Given the description of an element on the screen output the (x, y) to click on. 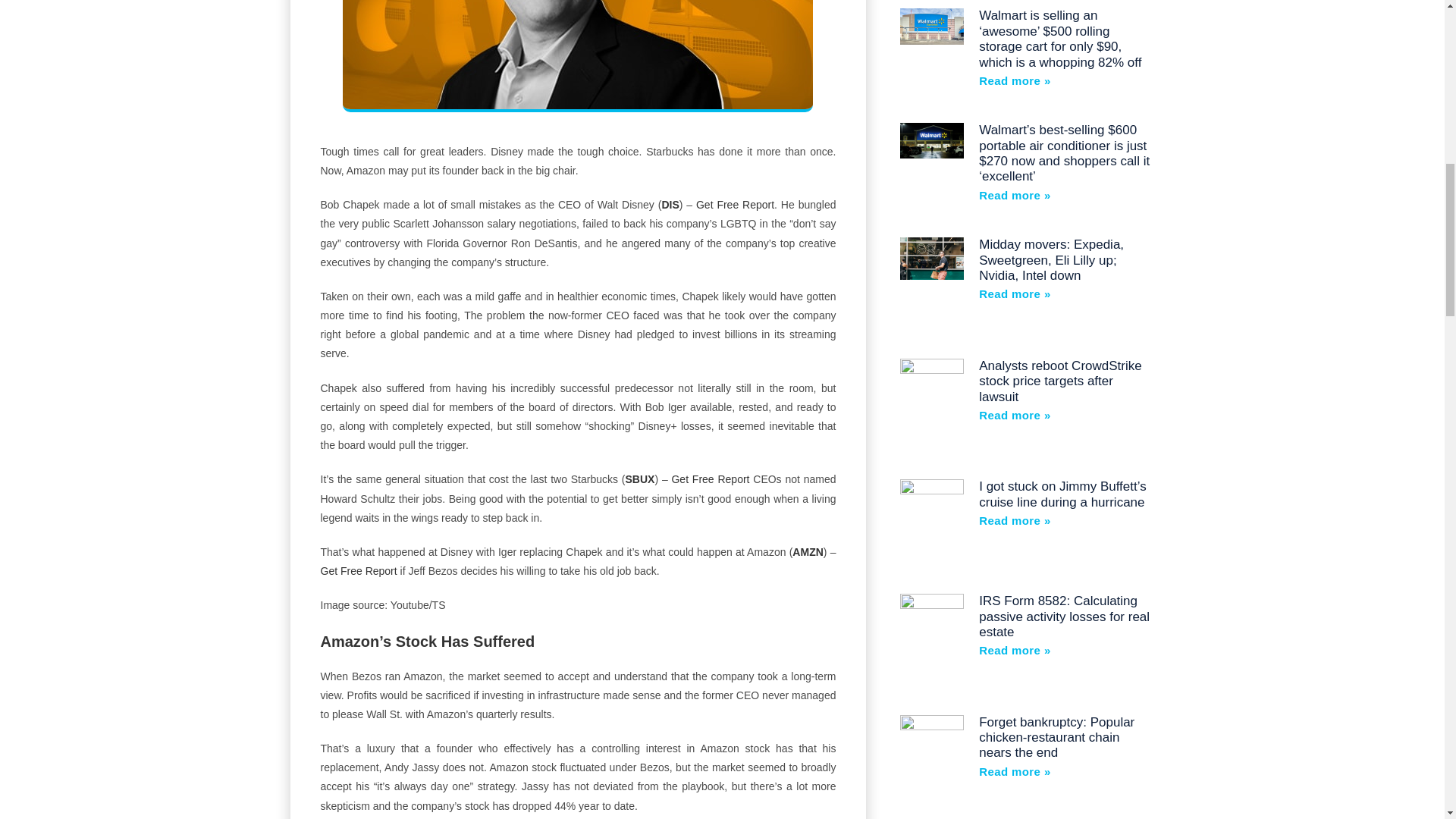
Get Free Report (710, 479)
Get Free Report (734, 204)
AMZN (807, 551)
DIS (669, 204)
Get Free Report (358, 571)
SBUX (640, 479)
